Given the description of an element on the screen output the (x, y) to click on. 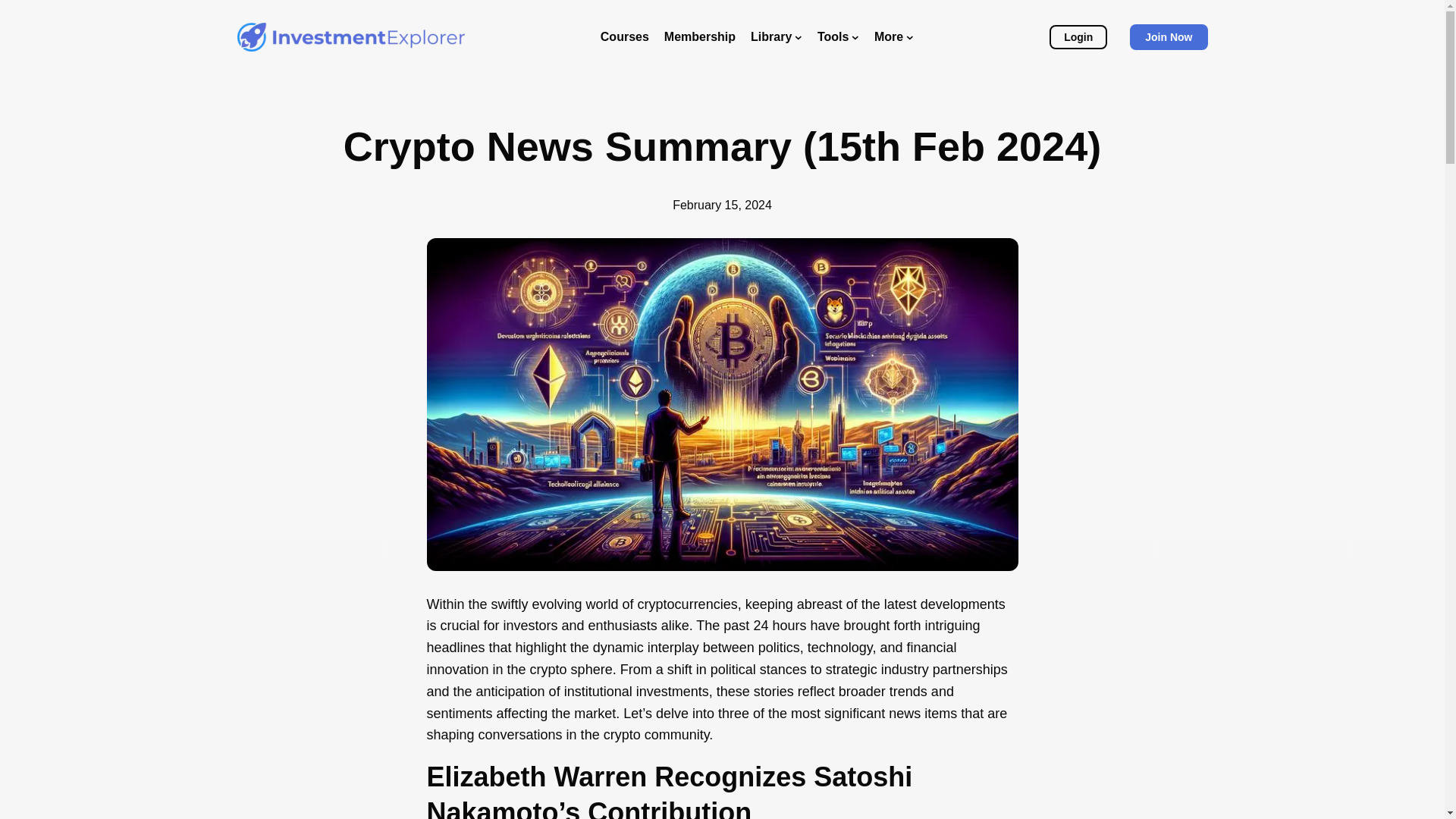
Tools (837, 36)
Membership (699, 36)
Login (1077, 37)
Join Now (1168, 36)
Courses (624, 36)
More (894, 36)
Library (776, 36)
